Given the description of an element on the screen output the (x, y) to click on. 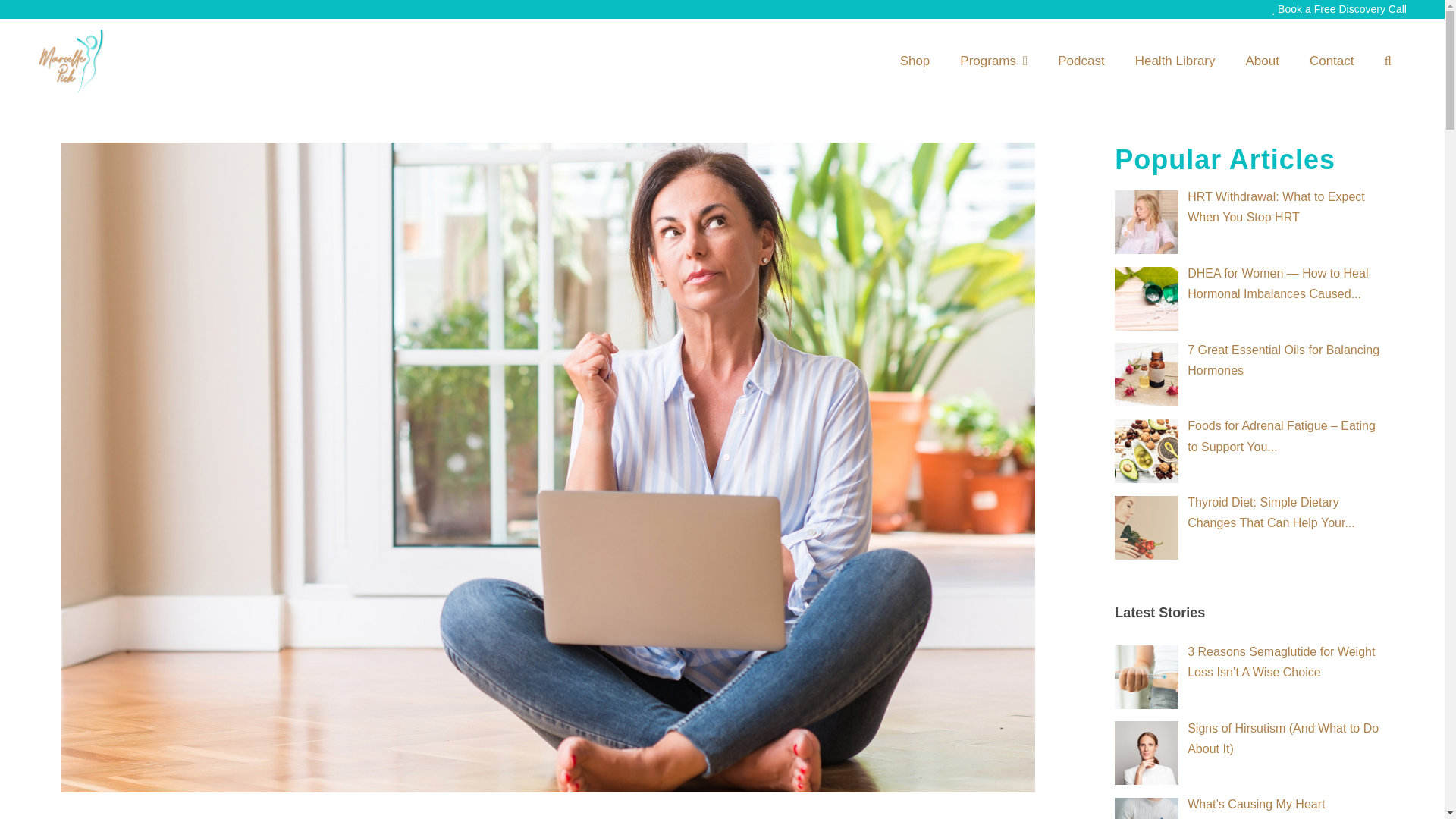
Book a Free Discovery Call (1340, 9)
Health Library (1175, 60)
